Given the description of an element on the screen output the (x, y) to click on. 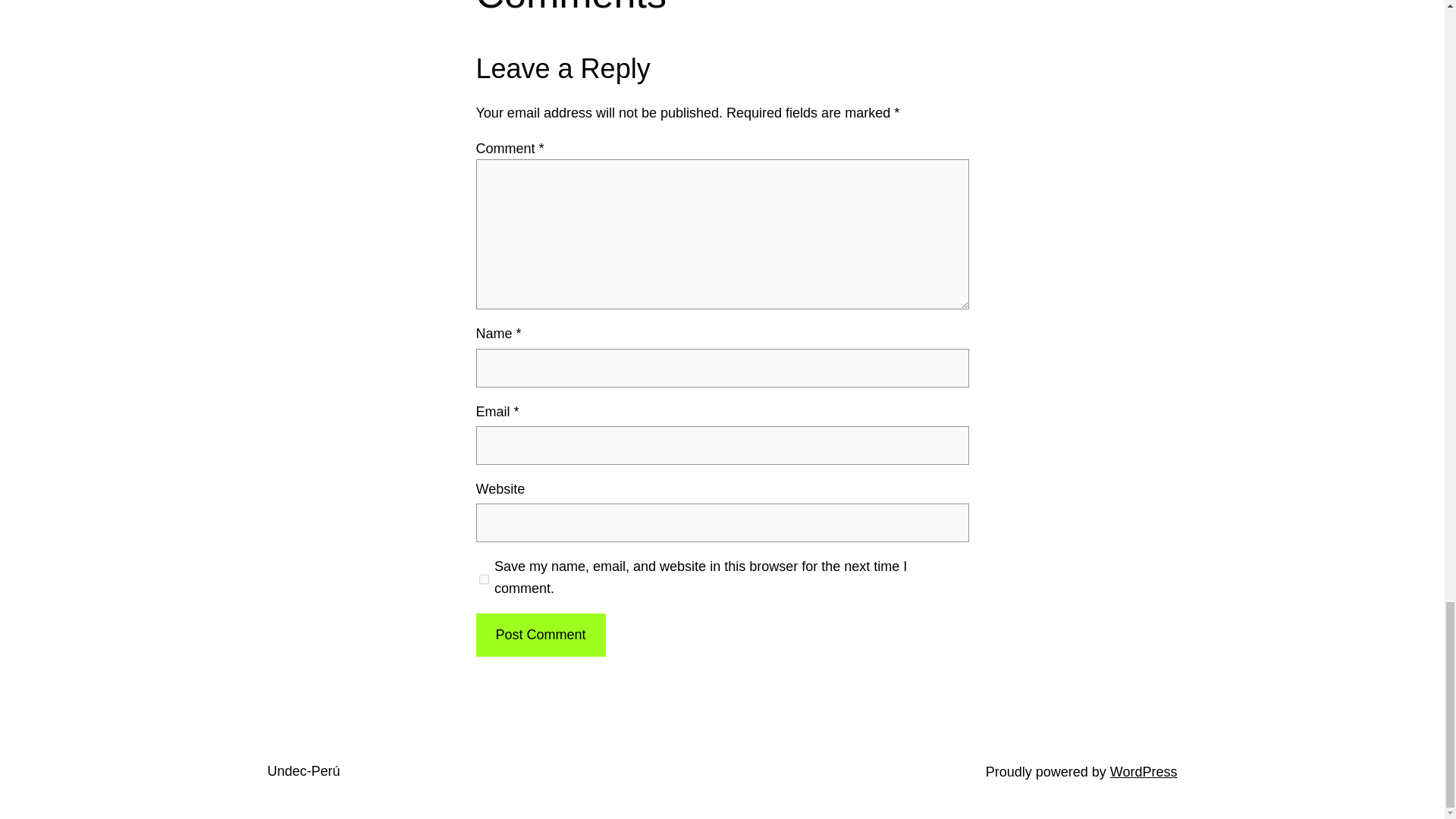
WordPress (1143, 771)
Post Comment (540, 634)
Post Comment (540, 634)
